Given the description of an element on the screen output the (x, y) to click on. 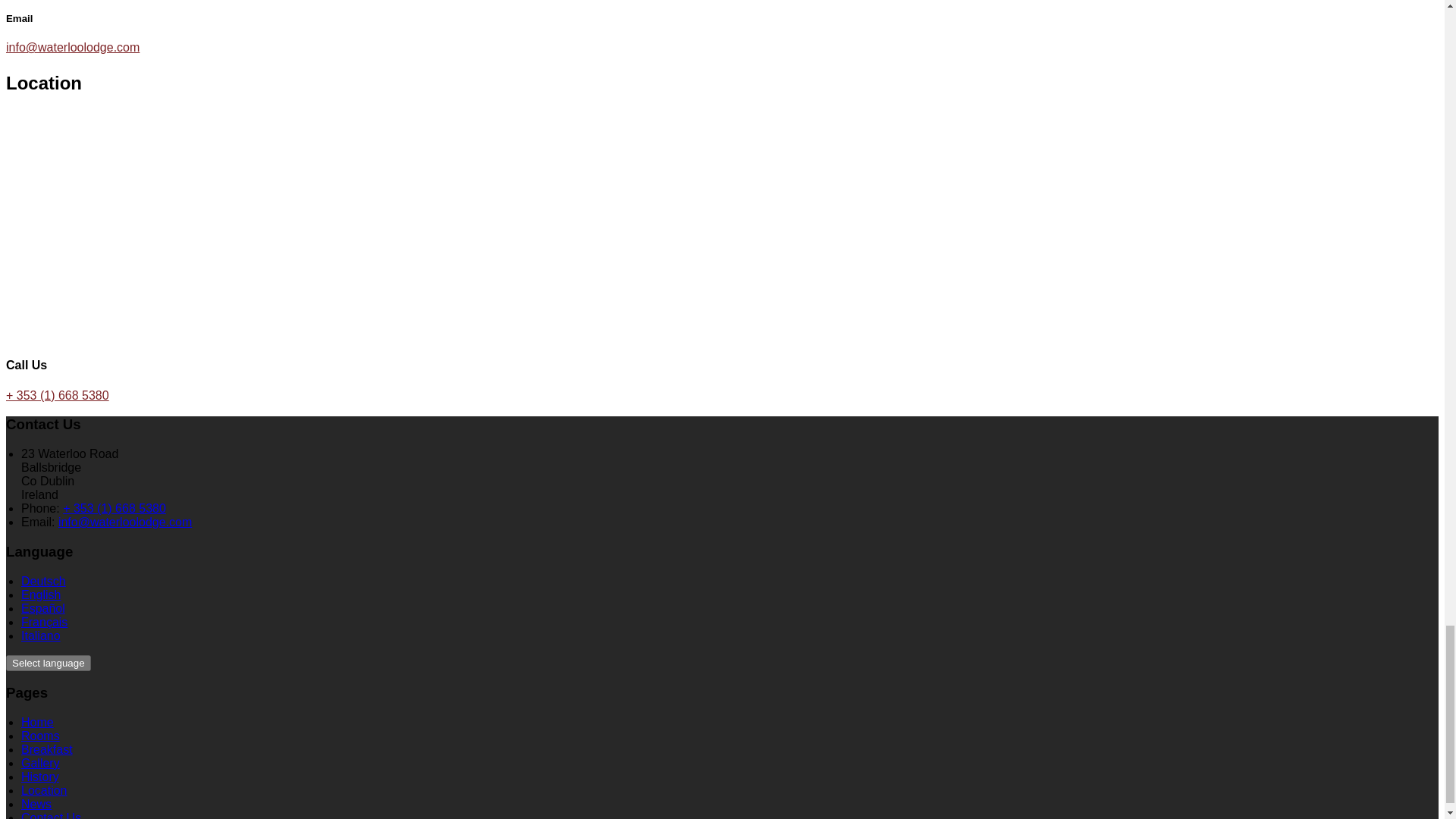
English (41, 594)
English (41, 594)
Breakfast (46, 748)
Italiano (41, 635)
Rooms (40, 735)
Select language (47, 662)
Deutsch (43, 581)
Gallery (40, 762)
Deutsch (43, 581)
Home (37, 721)
Italiano (41, 635)
History (40, 776)
News (35, 803)
Location (43, 789)
